Given the description of an element on the screen output the (x, y) to click on. 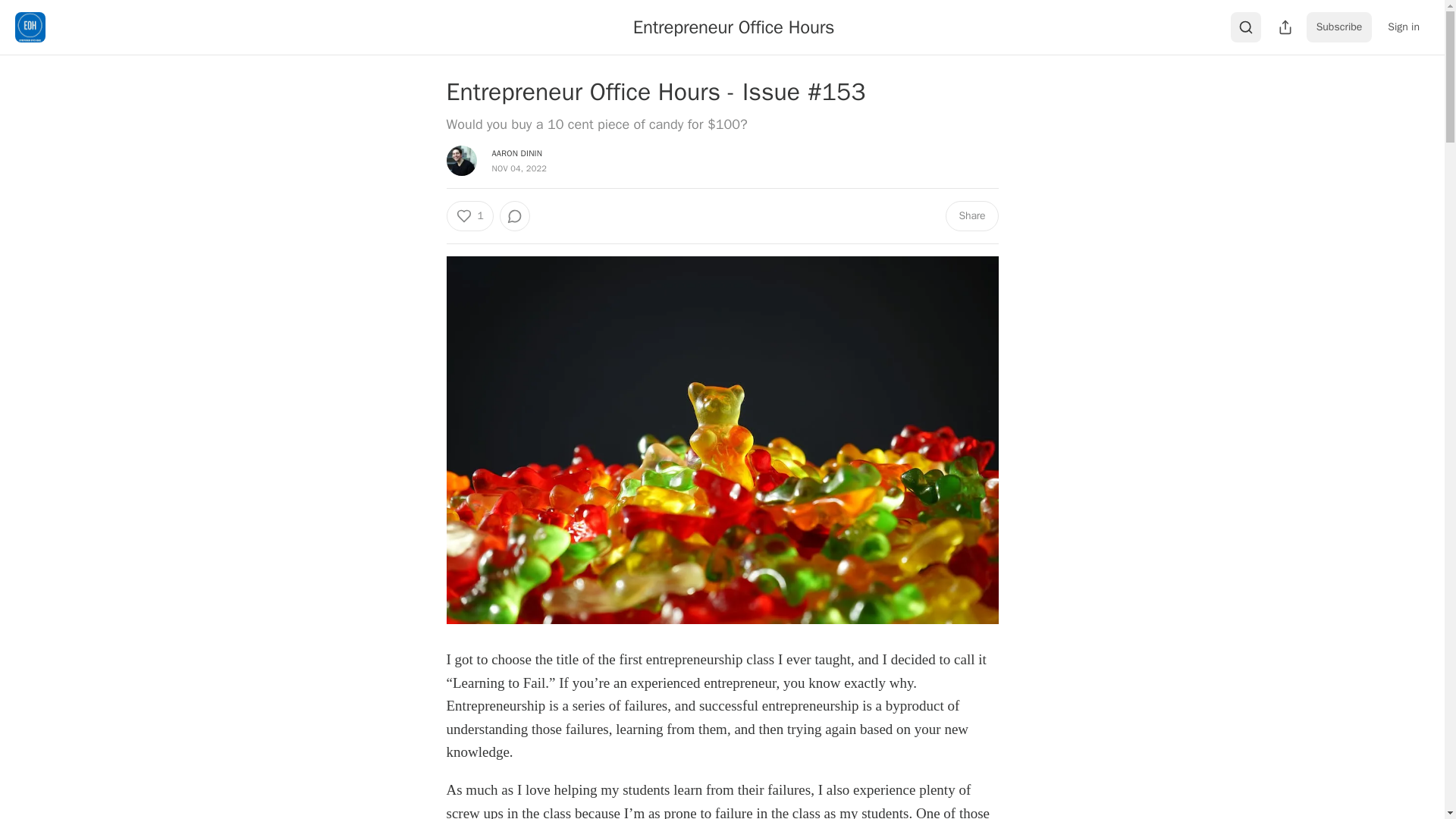
Share (970, 215)
AARON DININ (516, 153)
1 (469, 215)
Sign in (1403, 27)
Entrepreneur Office Hours (733, 26)
Subscribe (1339, 27)
